Given the description of an element on the screen output the (x, y) to click on. 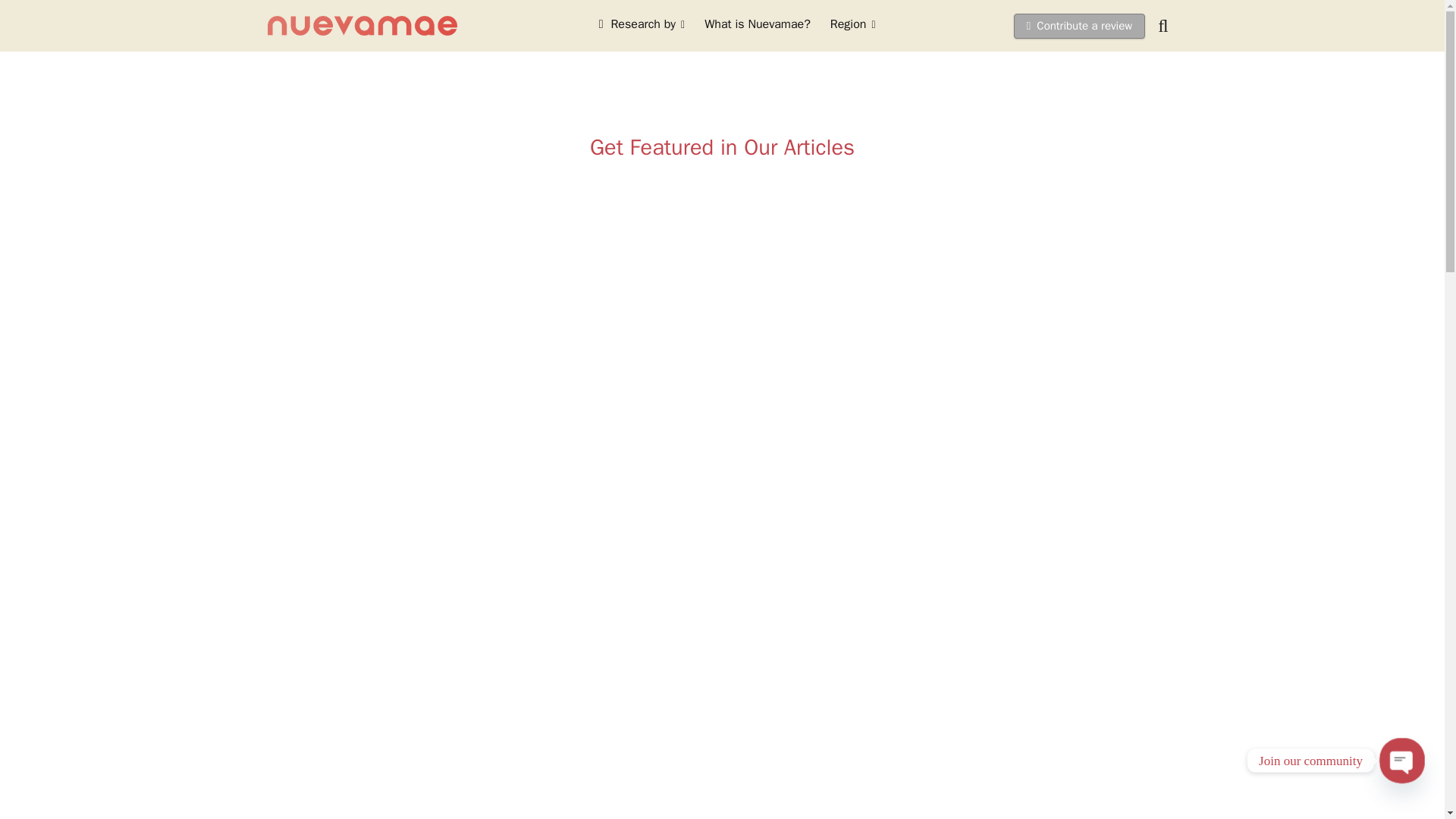
Research by (641, 25)
Contribute a review (1078, 25)
Region (853, 25)
What is Nuevamae? (757, 25)
